Given the description of an element on the screen output the (x, y) to click on. 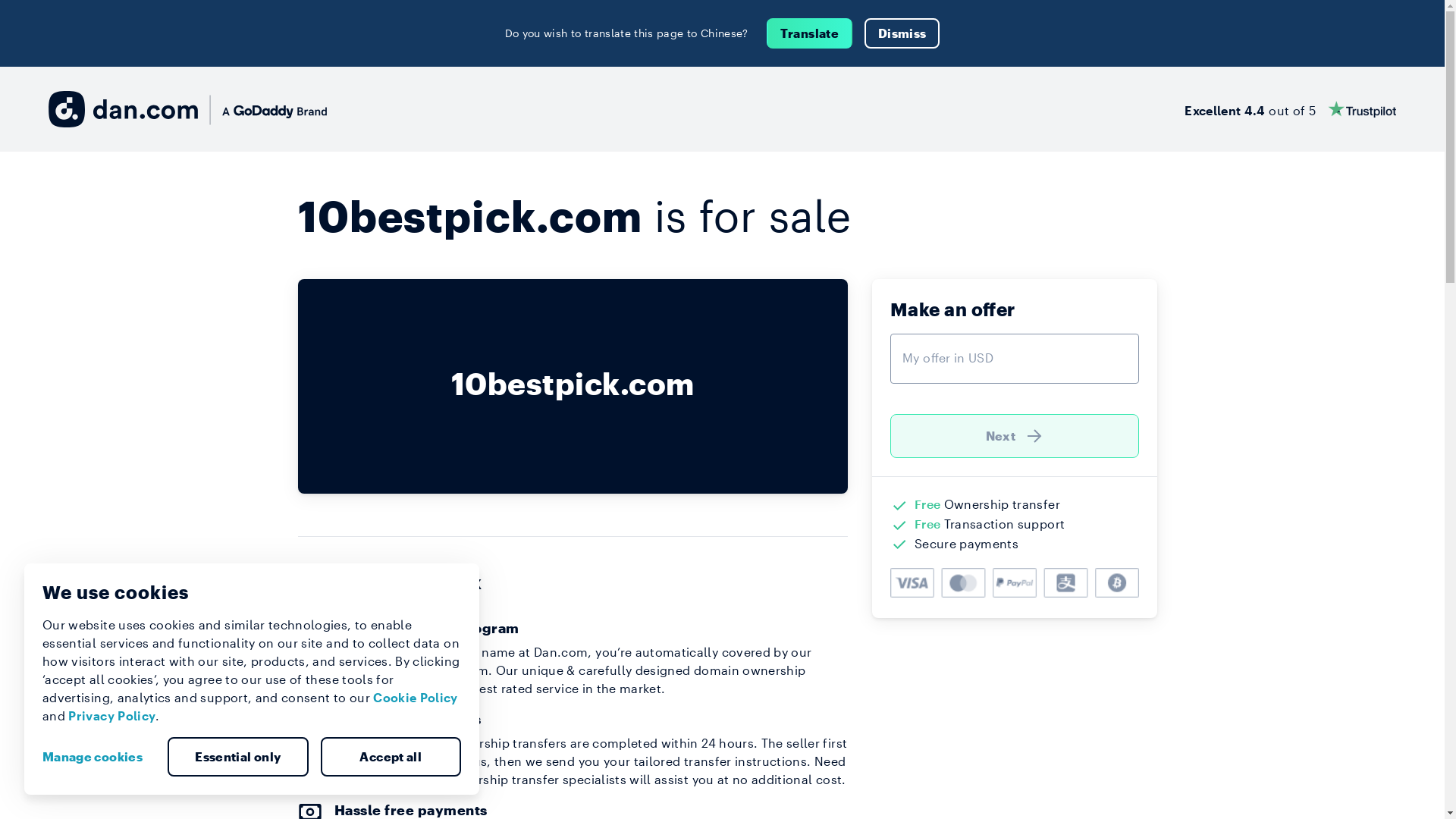
Translate Element type: text (809, 33)
Cookie Policy Element type: text (415, 697)
Essential only Element type: text (237, 756)
Accept all Element type: text (390, 756)
Next
) Element type: text (1014, 436)
Manage cookies Element type: text (98, 756)
Dismiss Element type: text (901, 33)
Excellent 4.4 out of 5 Element type: text (1290, 109)
Privacy Policy Element type: text (111, 715)
